Given the description of an element on the screen output the (x, y) to click on. 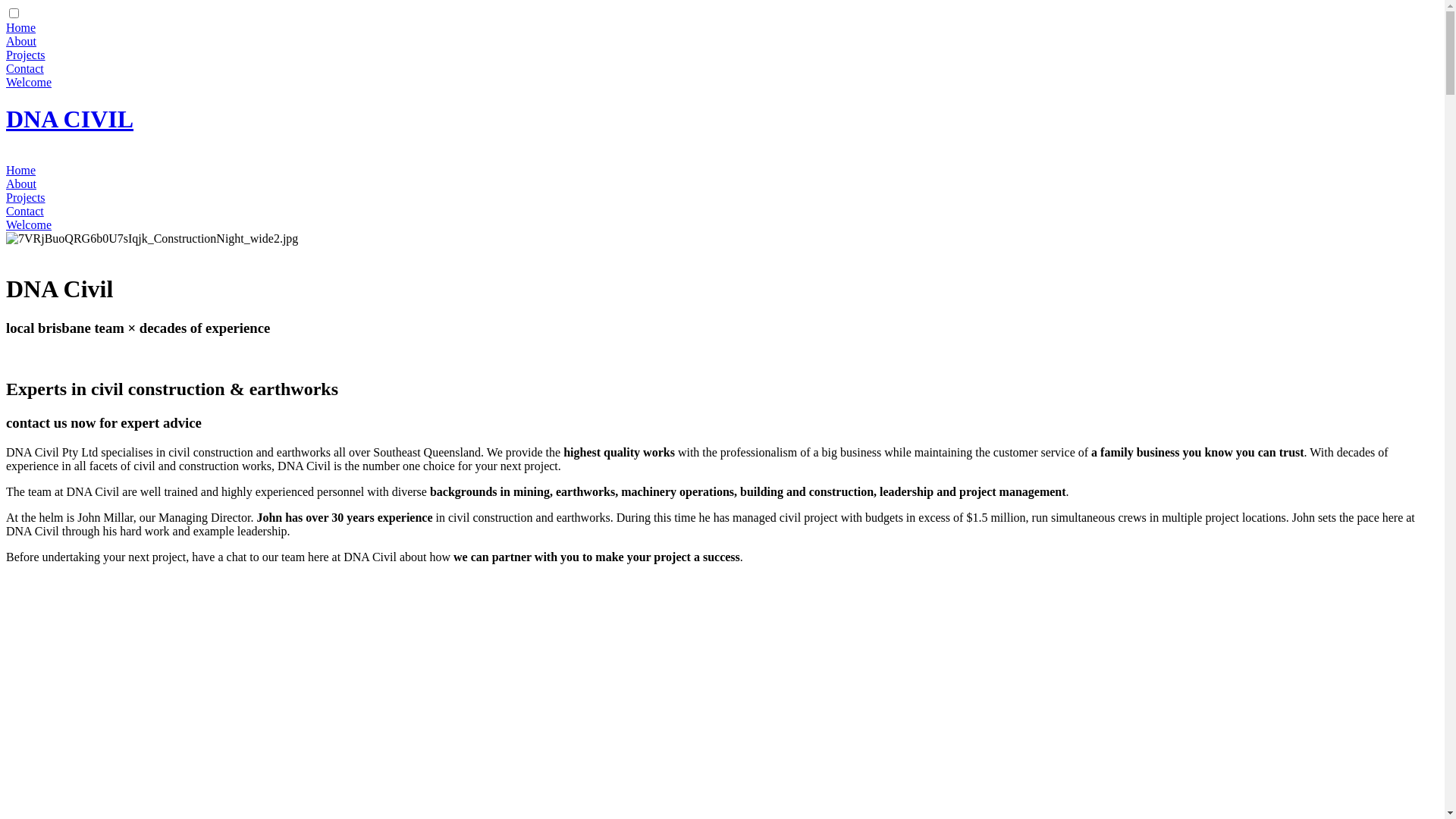
Home Element type: text (20, 169)
Contact Element type: text (24, 68)
Contact Element type: text (24, 210)
Welcome Element type: text (28, 81)
Projects Element type: text (25, 54)
Projects Element type: text (25, 197)
Home Element type: text (20, 27)
Welcome Element type: text (28, 224)
About Element type: text (21, 40)
DNA CIVIL Element type: text (69, 118)
About Element type: text (21, 183)
